Given the description of an element on the screen output the (x, y) to click on. 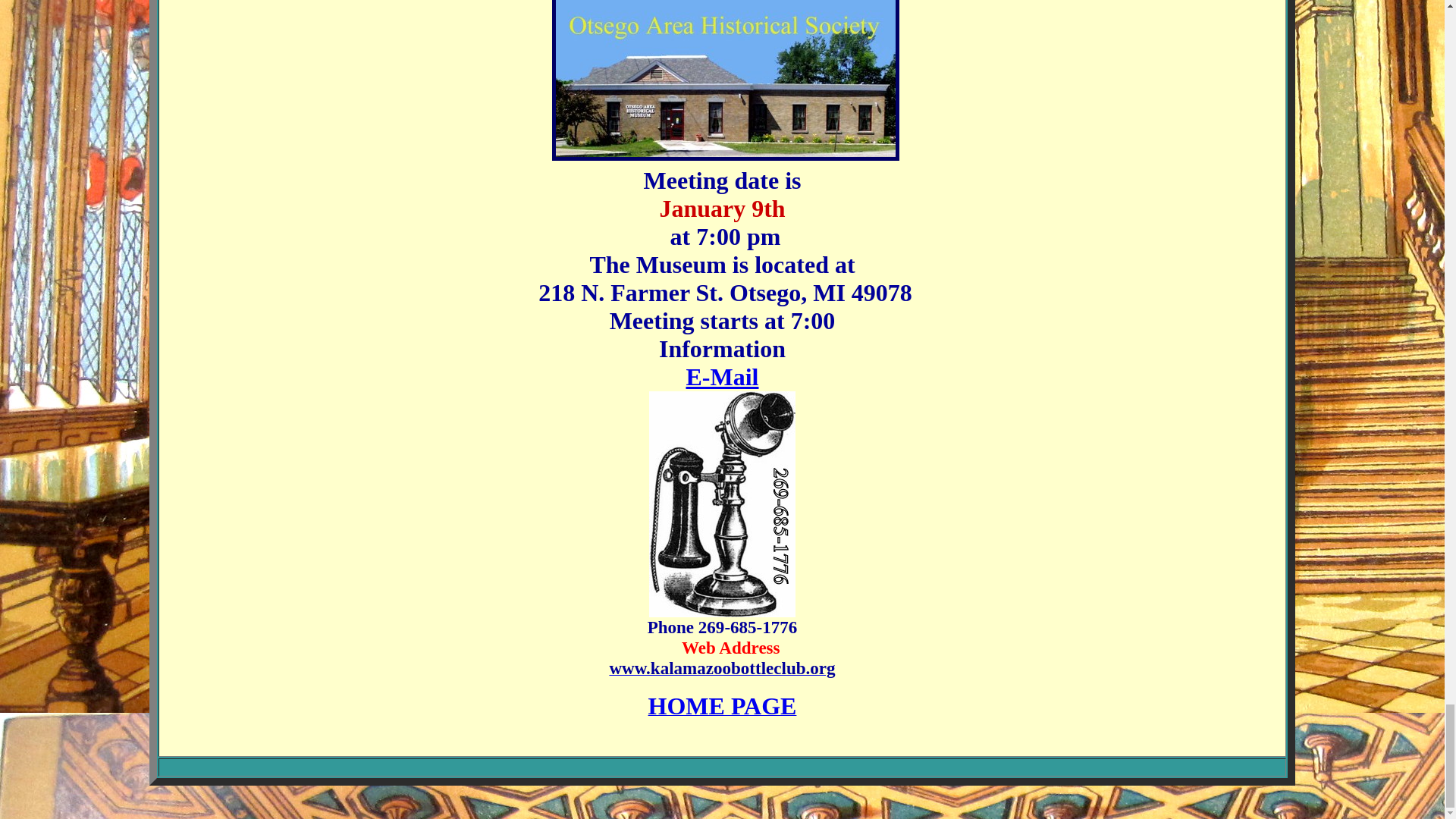
www.kalamazoobottleclub.org (721, 669)
HOME PAGE (721, 709)
E-Mail (721, 376)
